Given the description of an element on the screen output the (x, y) to click on. 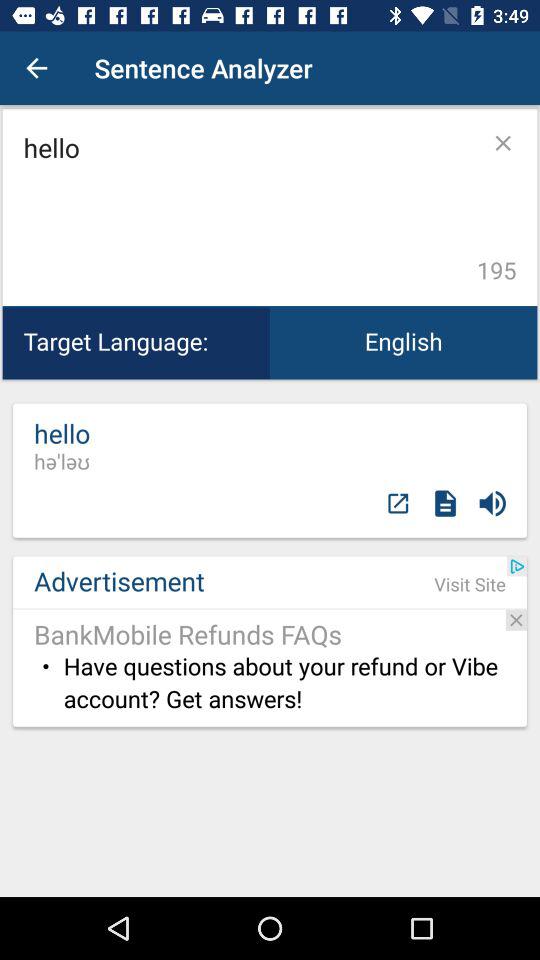
open item above hello icon (36, 68)
